Given the description of an element on the screen output the (x, y) to click on. 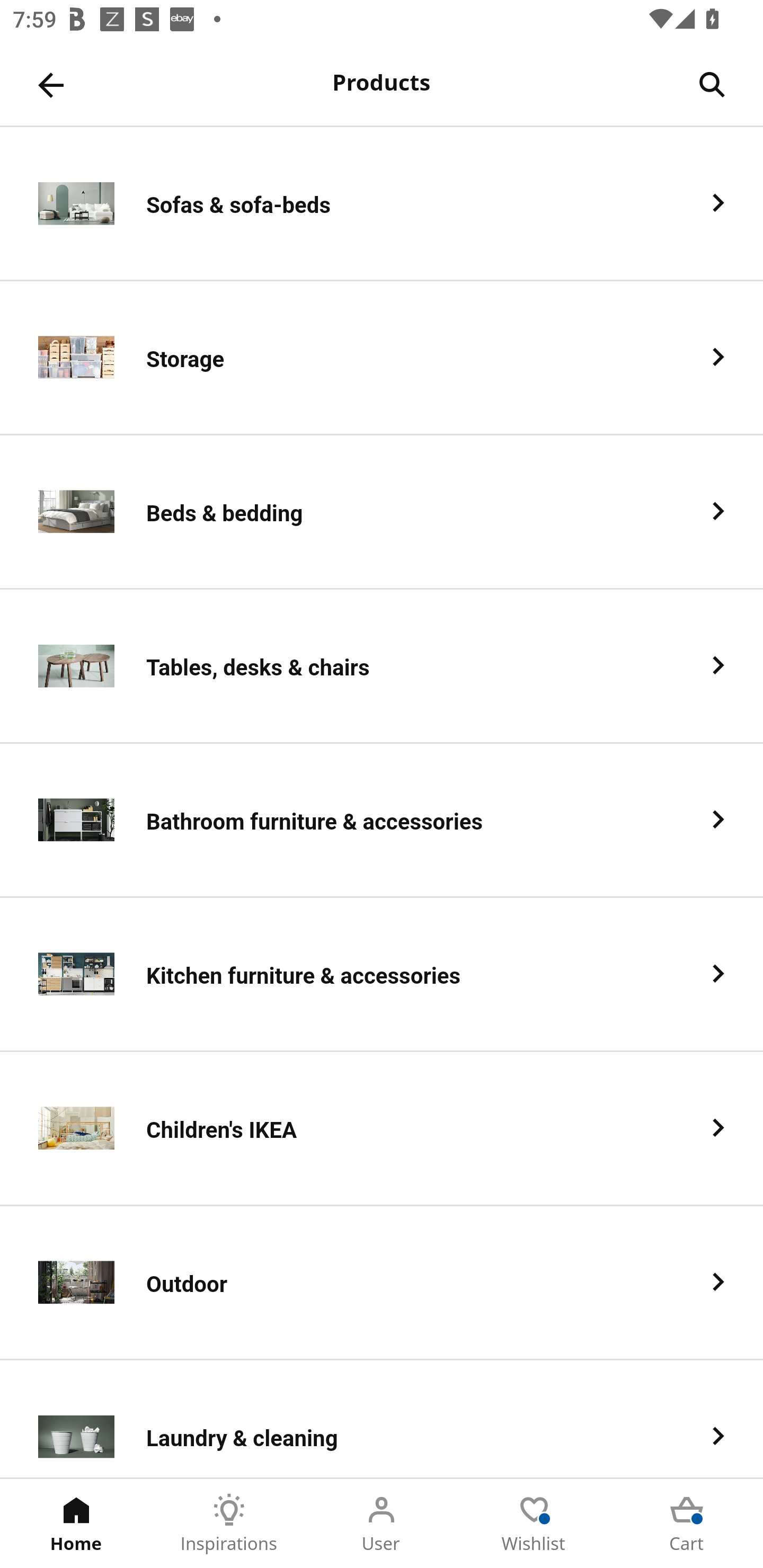
Sofas & sofa-beds (381, 203)
Storage (381, 357)
Beds & bedding (381, 512)
Tables, desks & chairs (381, 666)
Bathroom furniture & accessories (381, 820)
Kitchen furniture & accessories (381, 975)
Children's IKEA (381, 1128)
Outdoor (381, 1283)
Laundry & cleaning (381, 1419)
Home
Tab 1 of 5 (76, 1522)
Inspirations
Tab 2 of 5 (228, 1522)
User
Tab 3 of 5 (381, 1522)
Wishlist
Tab 4 of 5 (533, 1522)
Cart
Tab 5 of 5 (686, 1522)
